Given the description of an element on the screen output the (x, y) to click on. 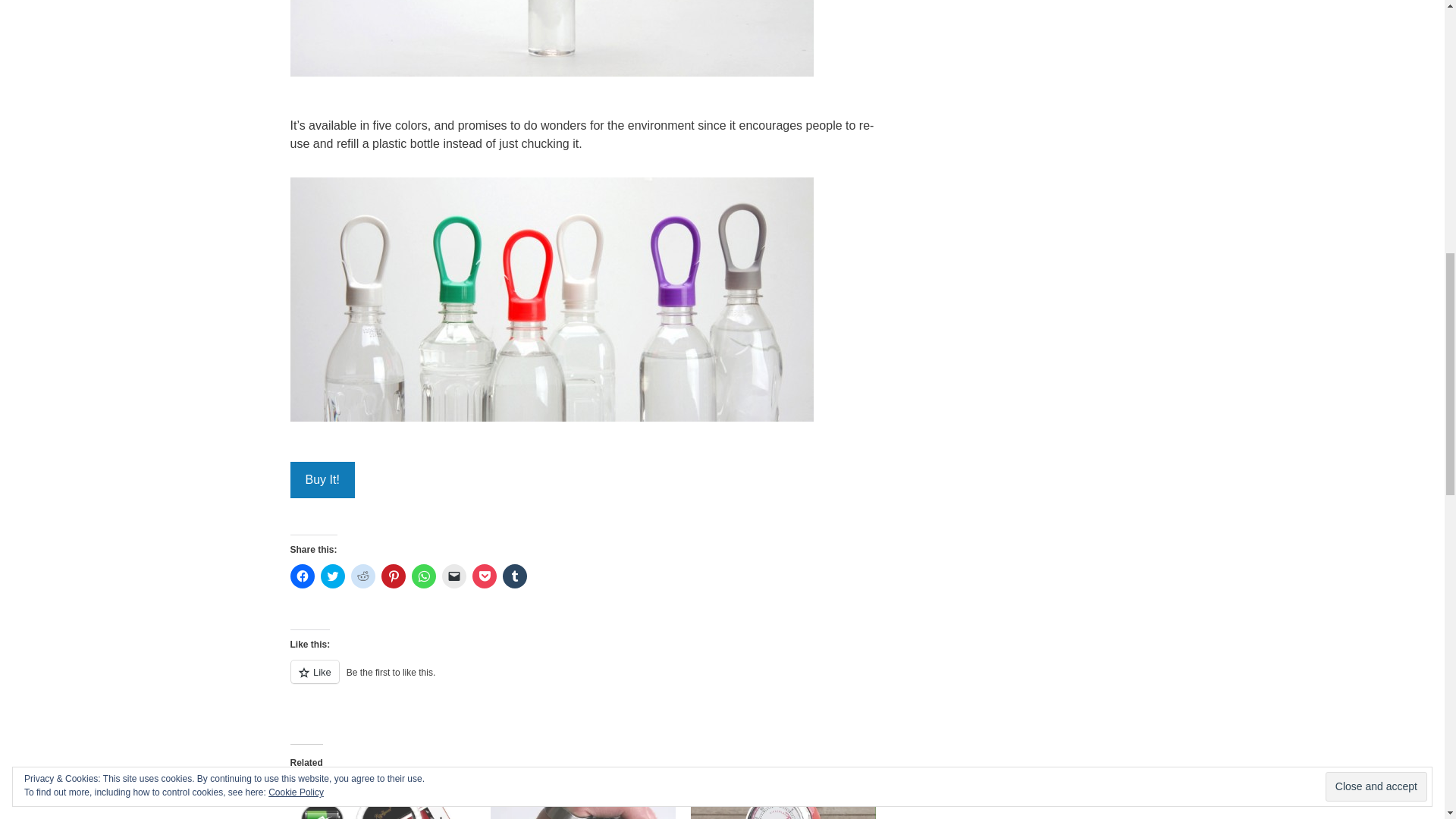
Like or Reblog (584, 680)
Click to share on Pocket (483, 576)
Selfie Ring Light (381, 803)
Click to share on Reddit (362, 576)
Bottle Ring by Lufdesign (550, 43)
Click to email a link to a friend (453, 576)
Buy It! (321, 479)
Click to share on Twitter (331, 576)
Click to share on WhatsApp (422, 576)
Click to share on Facebook (301, 576)
Buy It! (321, 479)
Bottle Ring by Lufdesign (550, 304)
Click to share on Tumblr (513, 576)
Click to share on Pinterest (392, 576)
